Given the description of an element on the screen output the (x, y) to click on. 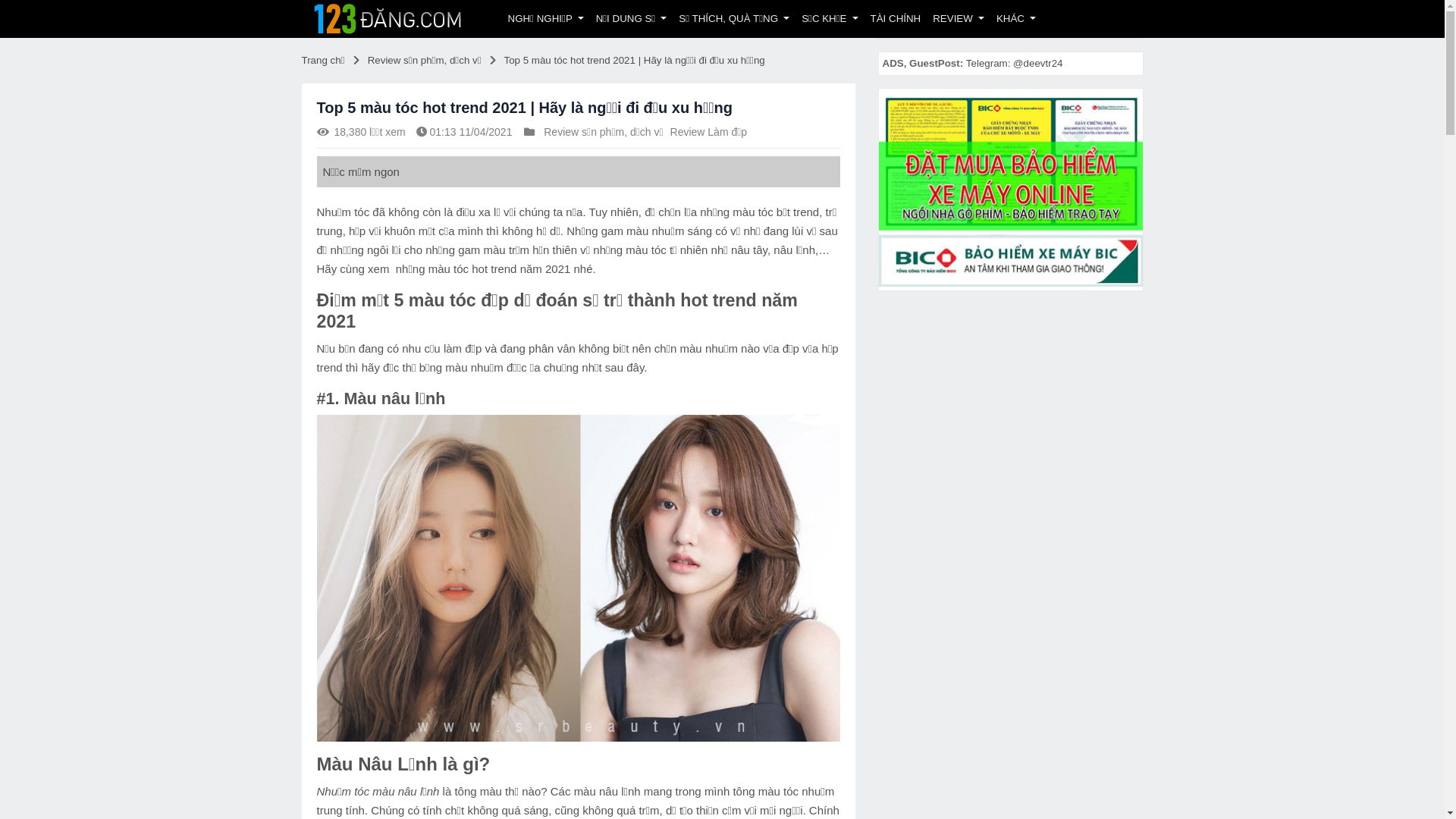
Telegram: @deevtr24 Element type: text (1014, 63)
REVIEW Element type: text (958, 18)
01:13 11/04/2021 Element type: text (470, 131)
